Given the description of an element on the screen output the (x, y) to click on. 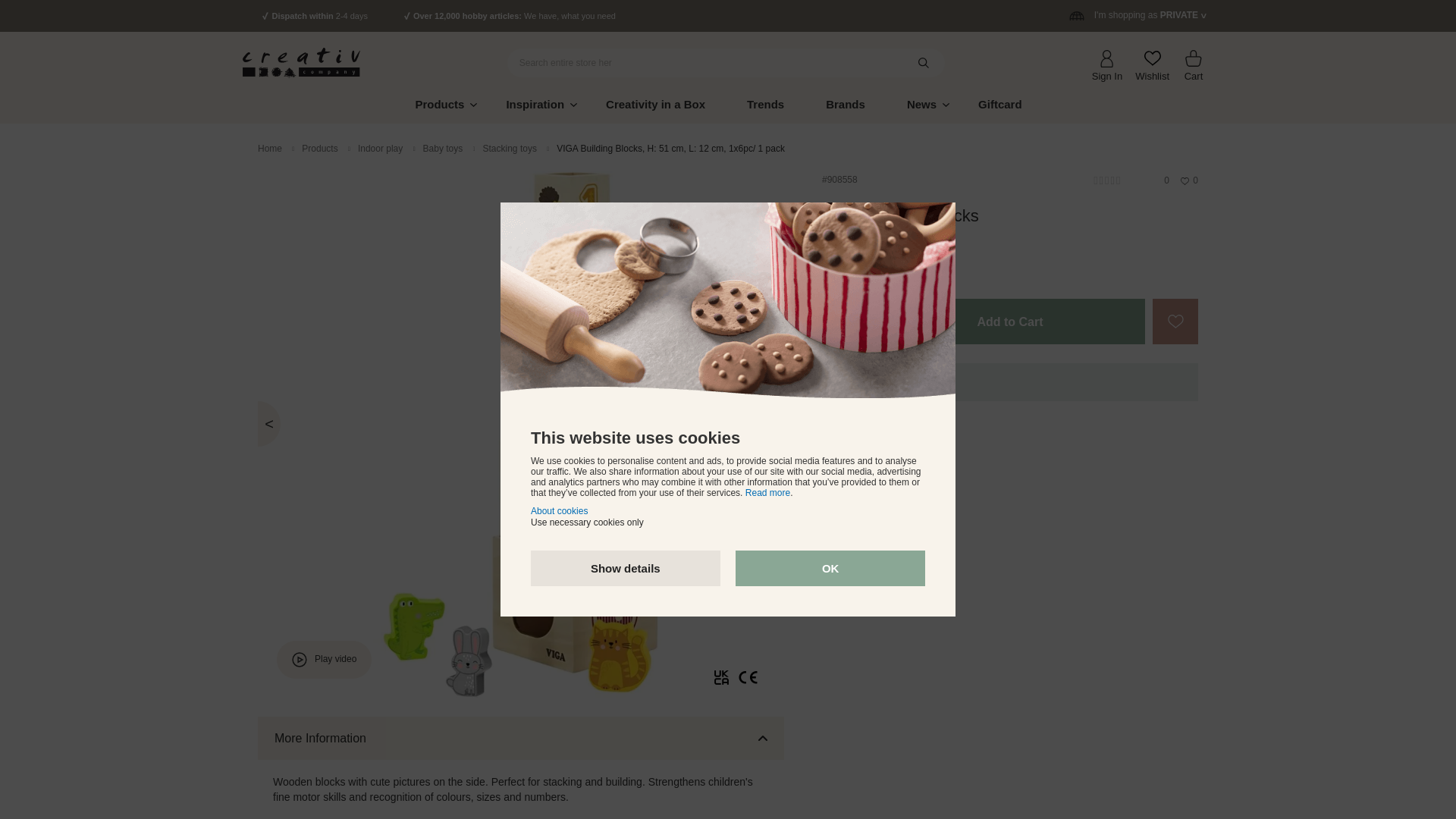
Show details (625, 568)
Read more (767, 492)
Use necessary cookies only (587, 521)
About cookies (559, 511)
OK (829, 568)
1 (844, 320)
